Given the description of an element on the screen output the (x, y) to click on. 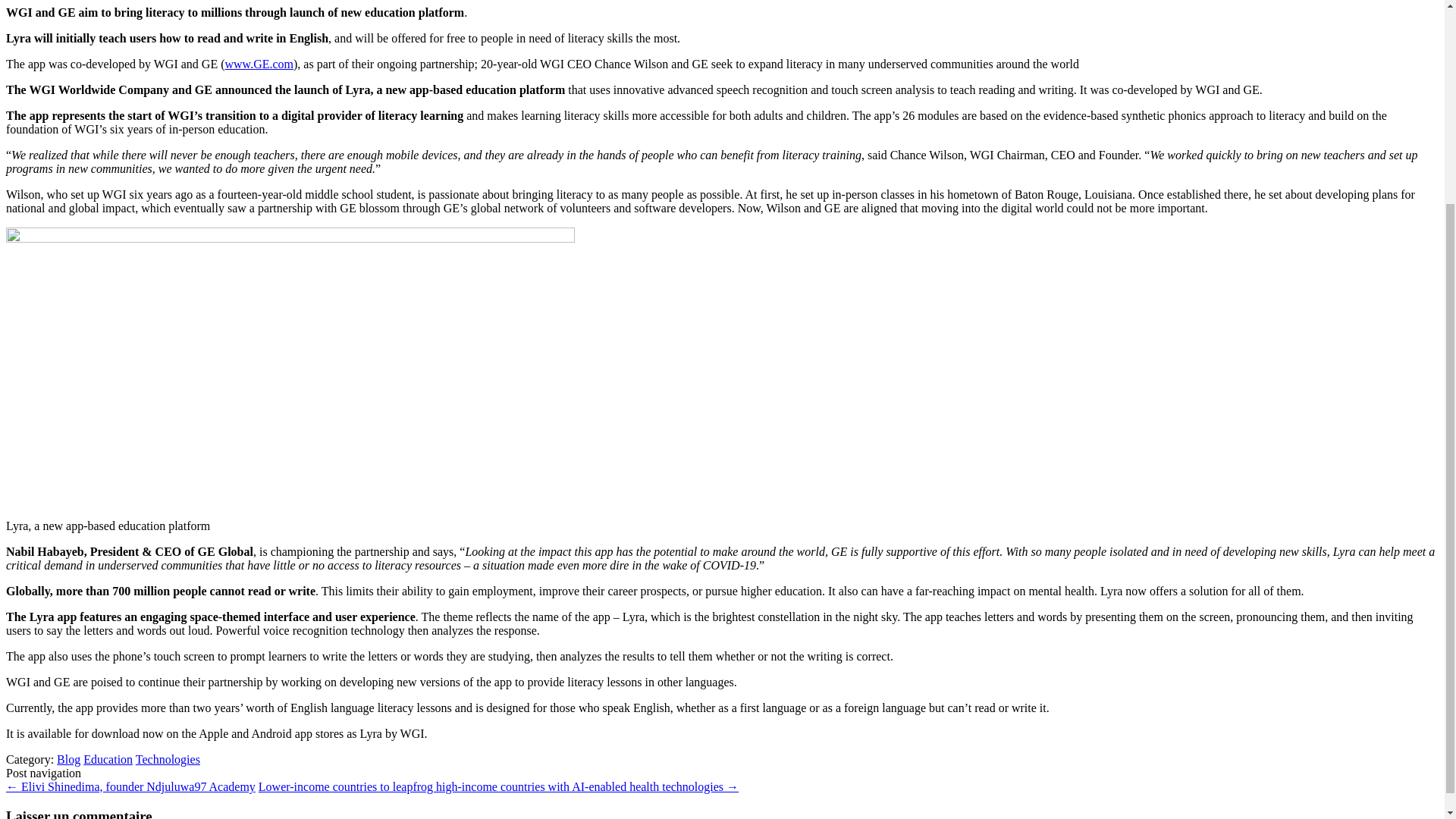
Blog (68, 758)
Education (107, 758)
www.GE.com (259, 63)
Technologies (167, 758)
